Given the description of an element on the screen output the (x, y) to click on. 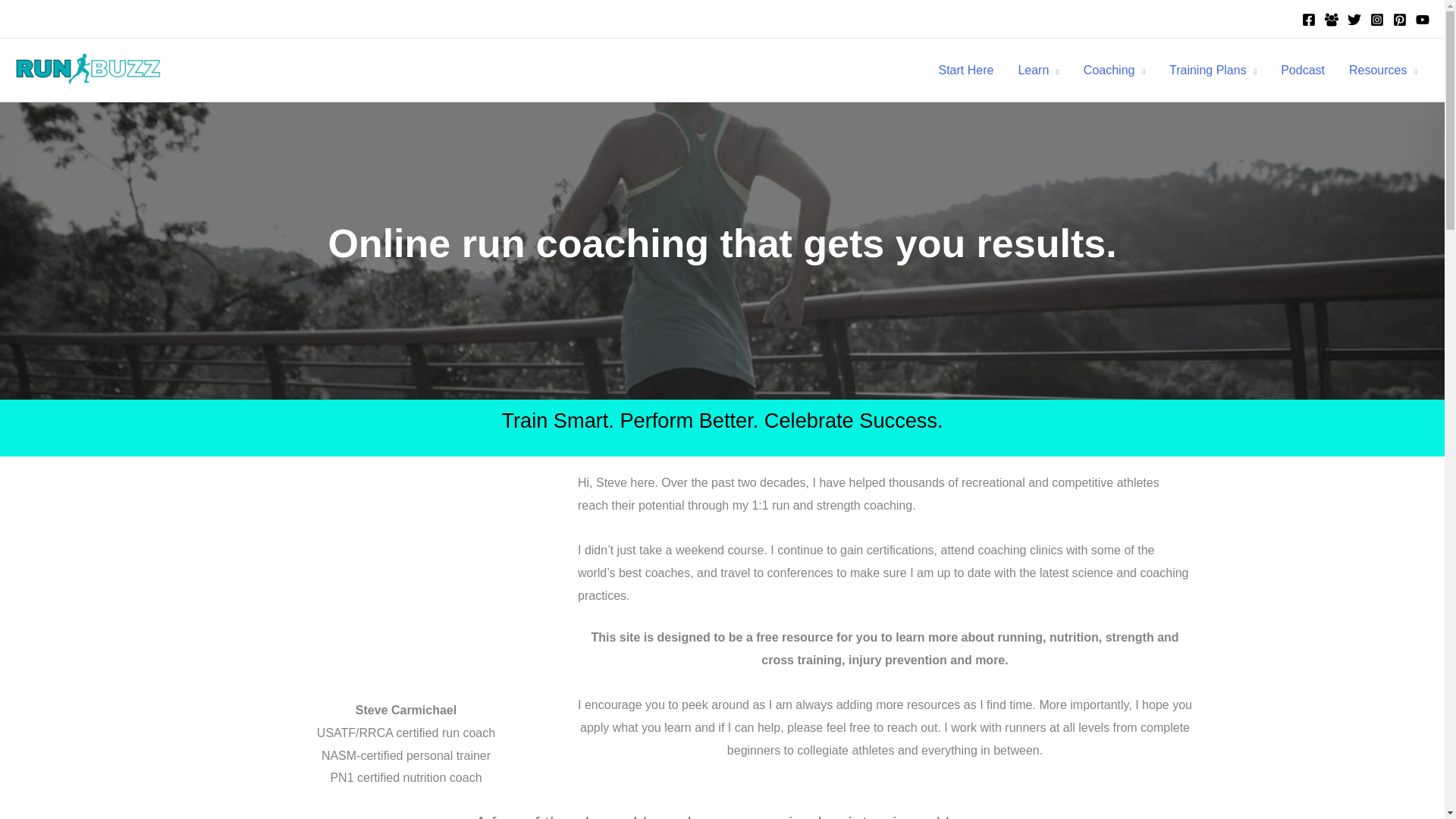
Learn (1038, 70)
Start Here (966, 70)
Resources (1382, 70)
Podcast (1302, 70)
Training Plans (1212, 70)
Coaching (1114, 70)
